Given the description of an element on the screen output the (x, y) to click on. 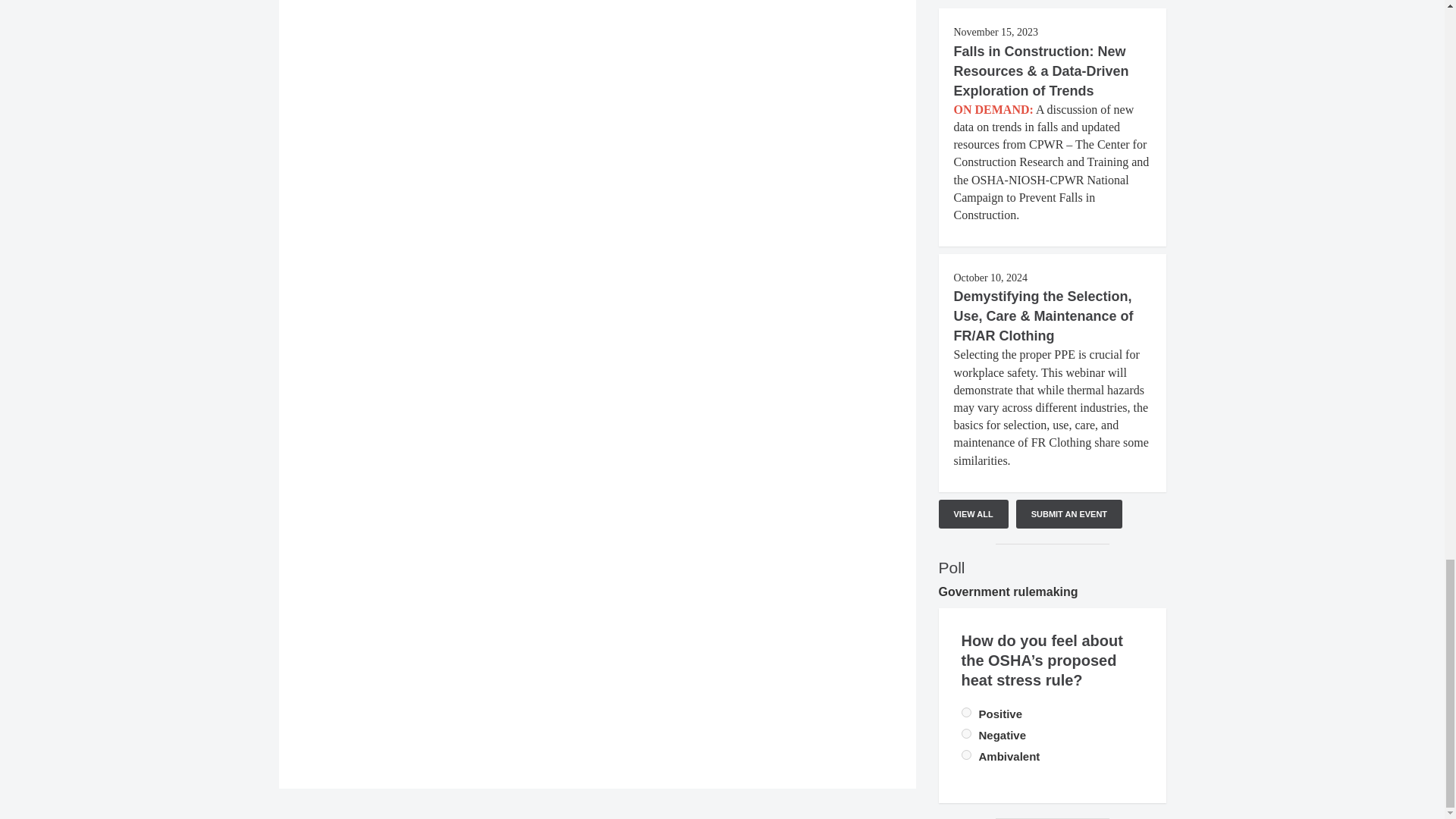
144 (965, 755)
143 (965, 733)
142 (965, 712)
